Given the description of an element on the screen output the (x, y) to click on. 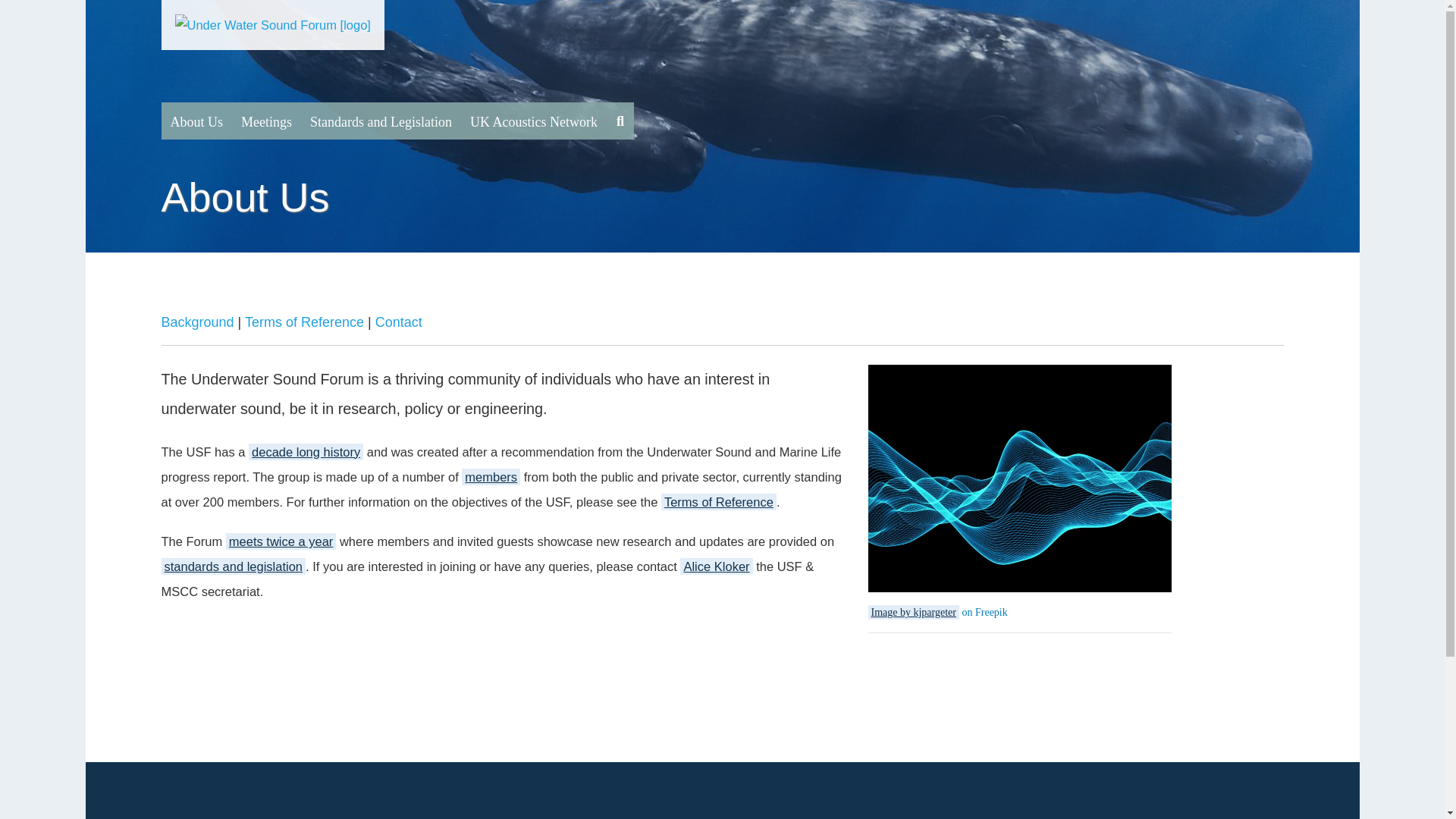
Meetings (266, 120)
members (490, 476)
Terms of Reference (718, 501)
Standards and Legislation (381, 120)
Alice Kloker (715, 565)
Image by kjpargeter (912, 612)
meets twice a year (280, 541)
standards and legislation (232, 565)
Terms of Reference (304, 322)
About Us (195, 120)
Background (196, 322)
UK Acoustics Network (534, 120)
Contact (398, 322)
decade long history (305, 451)
